Given the description of an element on the screen output the (x, y) to click on. 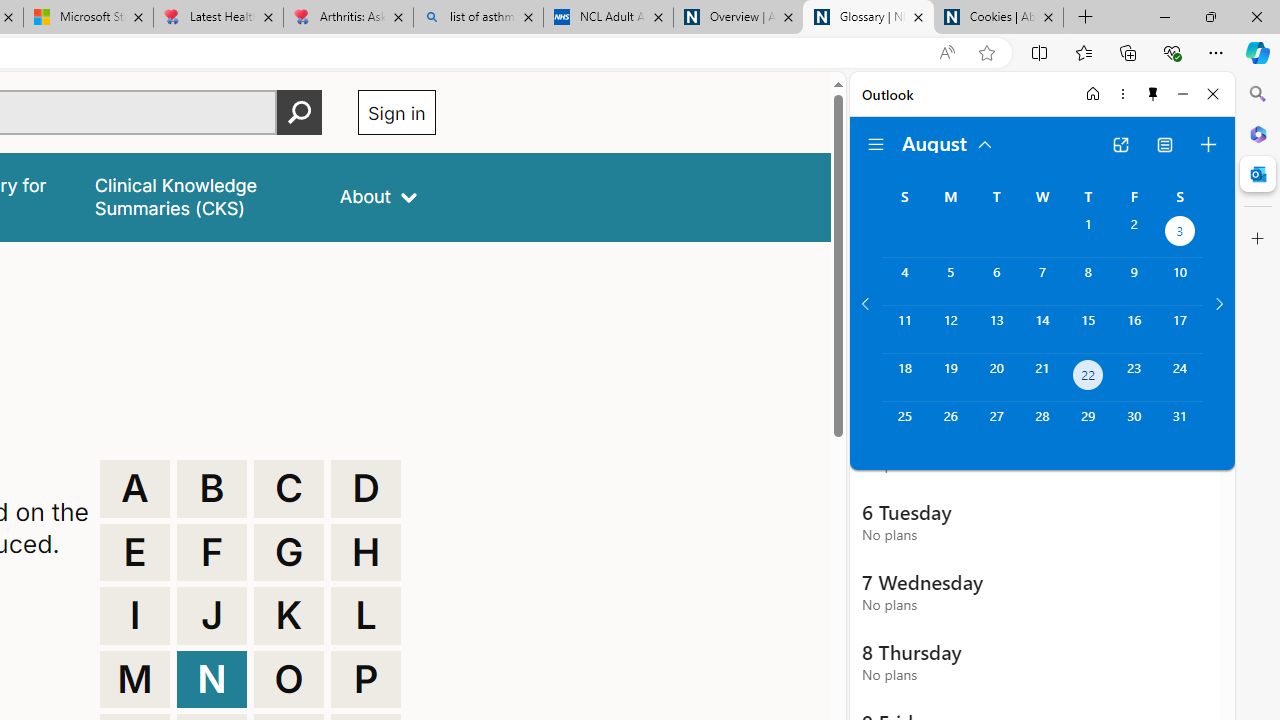
Friday, August 30, 2024.  (1134, 425)
About (378, 196)
Restore (1210, 16)
Friday, August 9, 2024.  (1134, 281)
Glossary | NICE (868, 17)
F (212, 551)
Collections (1128, 52)
Folder navigation (876, 144)
P (365, 679)
Wednesday, August 21, 2024.  (1042, 377)
N (212, 679)
Cookies | About | NICE (998, 17)
